Given the description of an element on the screen output the (x, y) to click on. 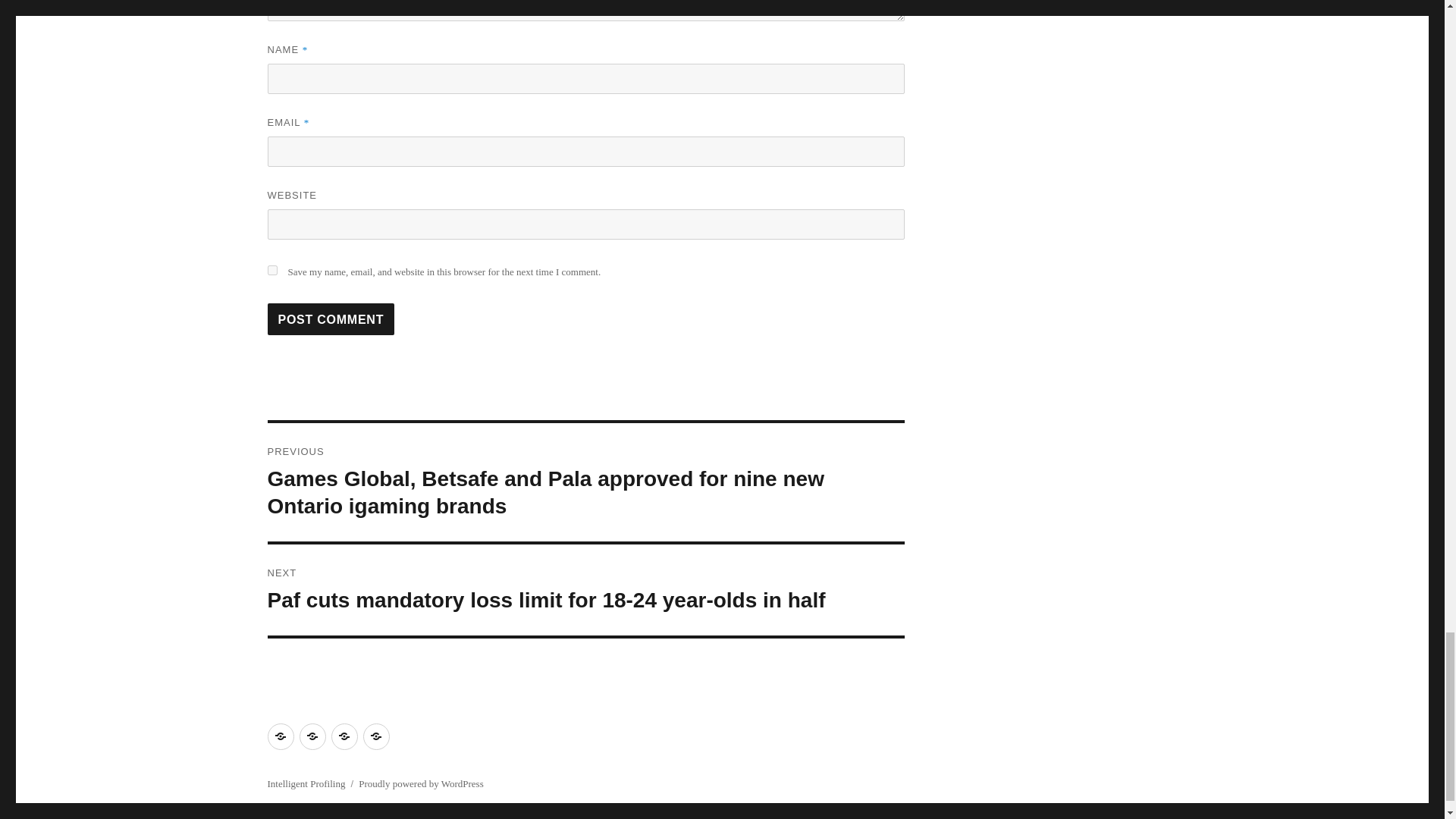
yes (271, 270)
Post Comment (330, 318)
Post Comment (330, 318)
